Given the description of an element on the screen output the (x, y) to click on. 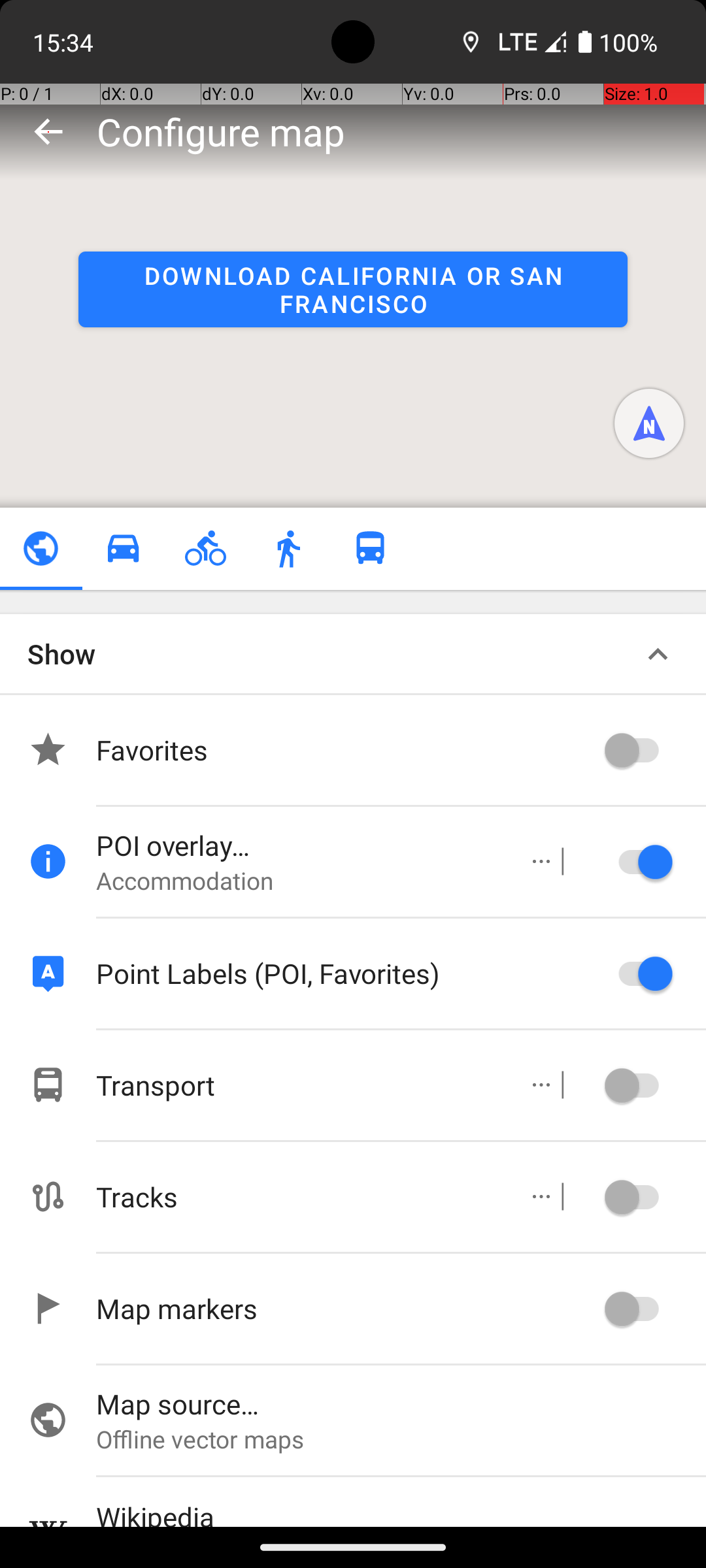
Back to map Element type: android.widget.ImageButton (48, 131)
Movement direction Element type: android.widget.ImageButton (649, 423)
DOWNLOAD CALIFORNIA OR SAN FRANCISCO Element type: android.widget.Button (352, 289)
Browse map checked Element type: android.widget.ImageView (40, 548)
Driving unchecked Element type: android.widget.ImageView (122, 548)
Cycling unchecked Element type: android.widget.ImageView (205, 548)
Show Element type: android.widget.TextView (61, 653)
POI overlay… Element type: android.widget.TextView (298, 844)
Accommodation Element type: android.widget.TextView (298, 880)
Point Labels (POI, Favorites) Element type: android.widget.TextView (346, 972)
Transport Element type: android.widget.TextView (298, 1084)
Map source… Element type: android.widget.TextView (401, 1403)
Offline vector maps Element type: android.widget.TextView (401, 1438)
